Given the description of an element on the screen output the (x, y) to click on. 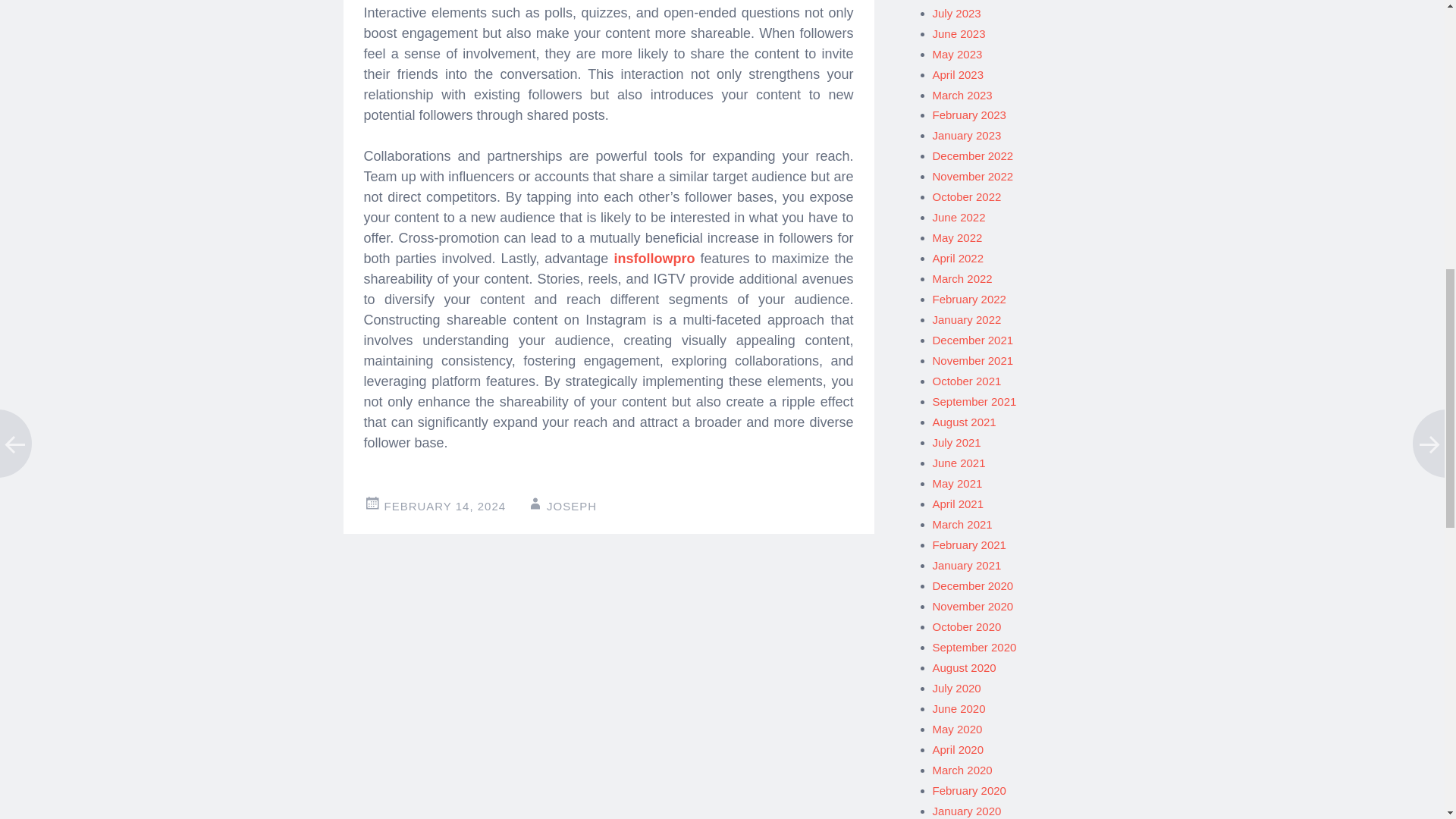
4:36 am (444, 505)
JOSEPH (571, 505)
insfollowpro (653, 258)
View all posts by Joseph (571, 505)
May 2023 (957, 53)
FEBRUARY 14, 2024 (444, 505)
June 2023 (959, 33)
July 2023 (957, 12)
